Given the description of an element on the screen output the (x, y) to click on. 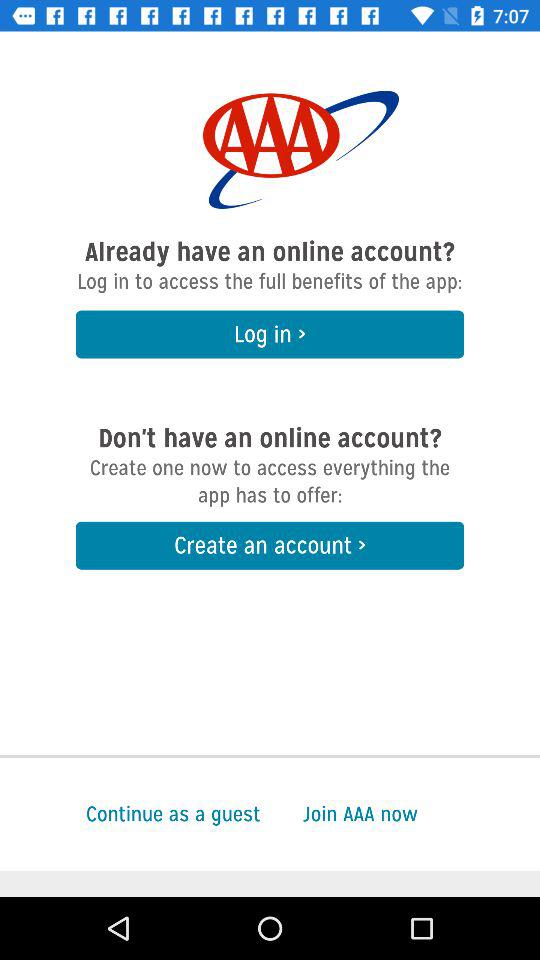
jump to continue as a icon (130, 814)
